Given the description of an element on the screen output the (x, y) to click on. 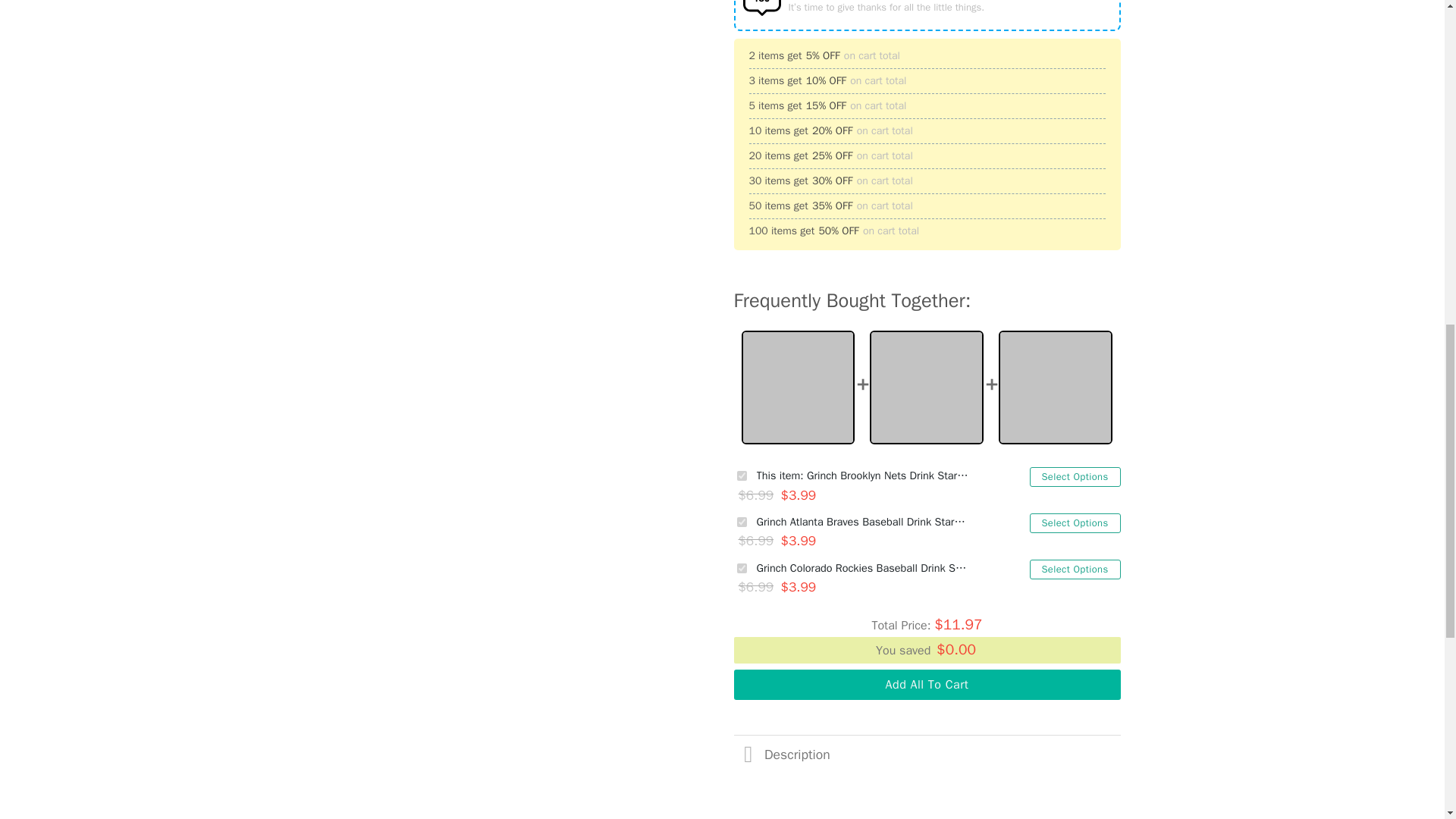
Add All To Cart (927, 684)
190244 (741, 521)
Select Options (1075, 569)
190262 (741, 568)
Select Options (1075, 523)
Select Options (1075, 476)
Grinch Atlanta Braves Baseball Drink Starbucks PNG (863, 521)
This item: Grinch Brooklyn Nets Drink Starbucks PNG (863, 475)
190329 (741, 475)
Grinch Colorado Rockies Baseball Drink Starbucks PNG (863, 568)
